Given the description of an element on the screen output the (x, y) to click on. 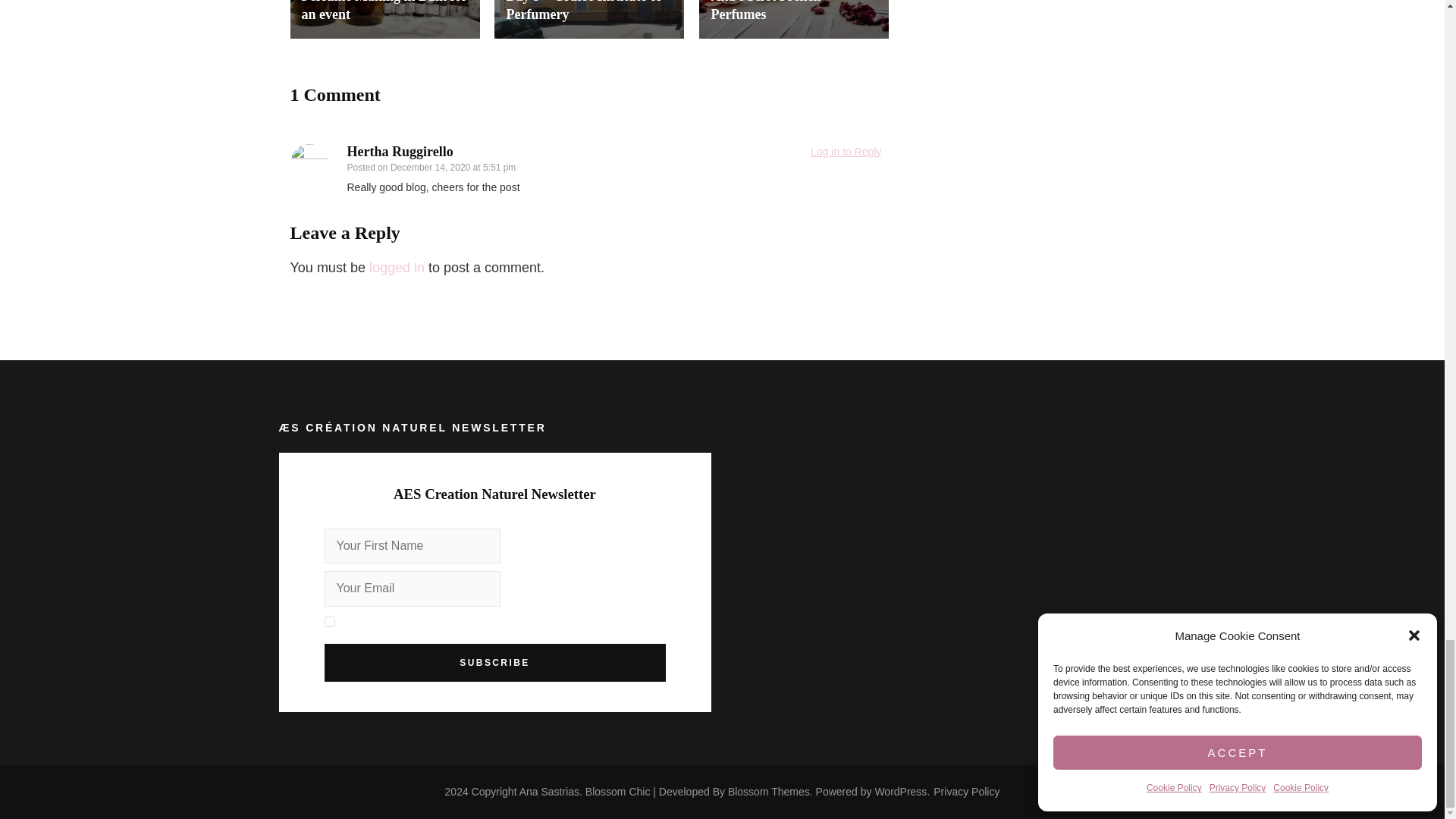
Subscribe (494, 662)
